Given the description of an element on the screen output the (x, y) to click on. 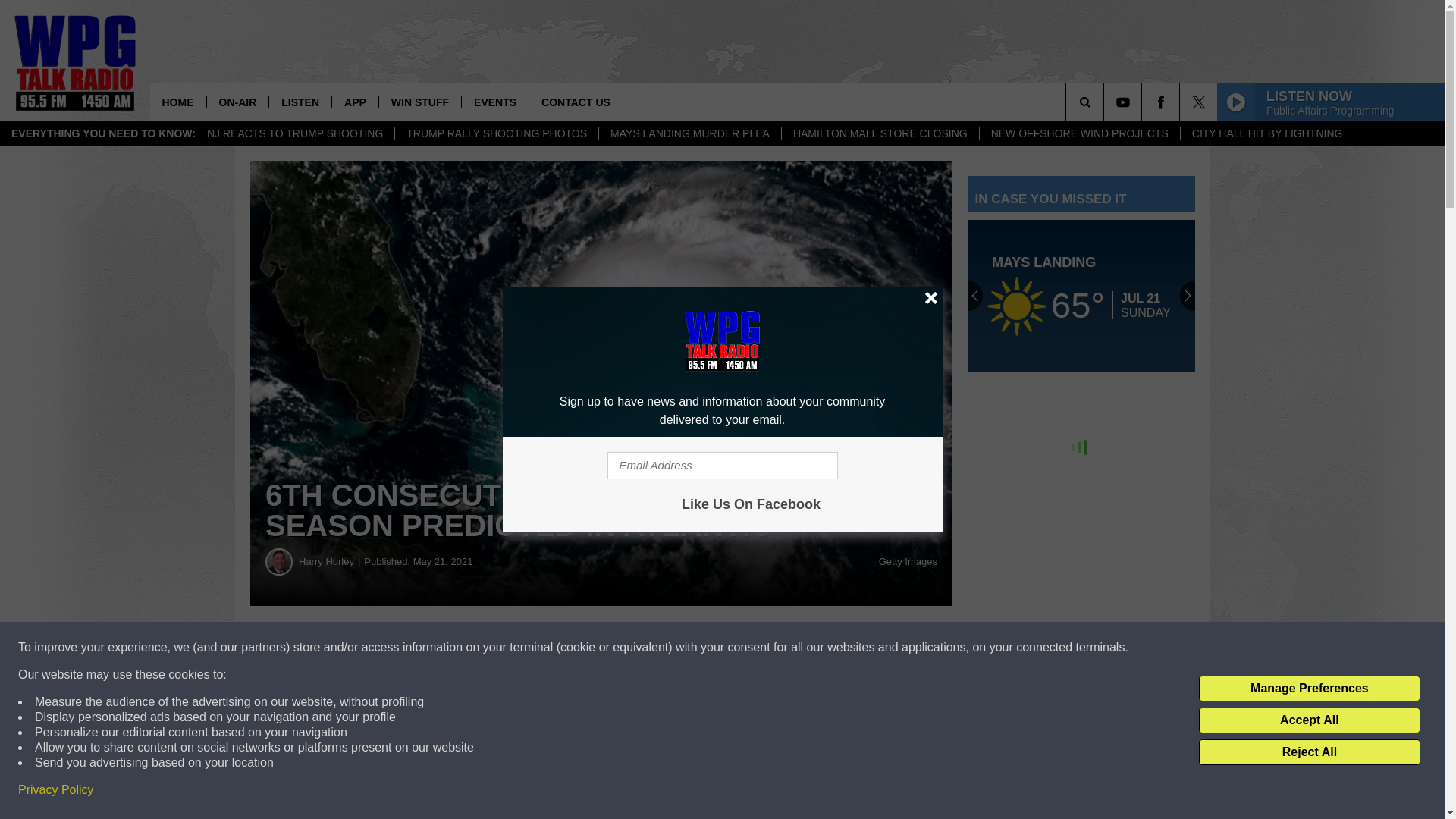
EVENTS (494, 102)
Email Address (722, 465)
CITY HALL HIT BY LIGHTNING (1266, 133)
SEARCH (1106, 102)
WIN STUFF (419, 102)
HOME (177, 102)
TRUMP RALLY SHOOTING PHOTOS (496, 133)
ON-AIR (237, 102)
NJ REACTS TO TRUMP SHOOTING (294, 133)
Reject All (1309, 751)
NEW OFFSHORE WIND PROJECTS (1078, 133)
MAYS LANDING MURDER PLEA (689, 133)
Privacy Policy (55, 789)
LISTEN (299, 102)
Manage Preferences (1309, 688)
